Given the description of an element on the screen output the (x, y) to click on. 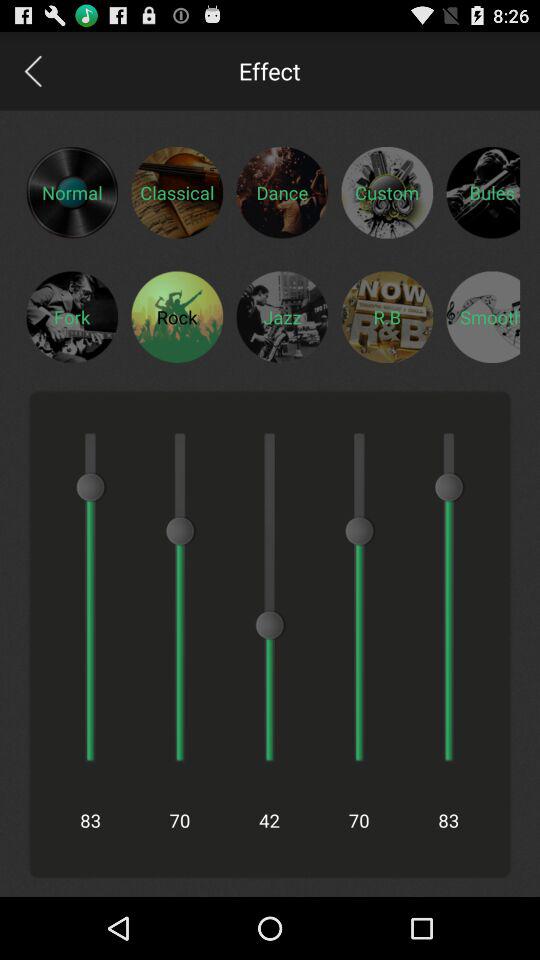
go back (32, 70)
